Given the description of an element on the screen output the (x, y) to click on. 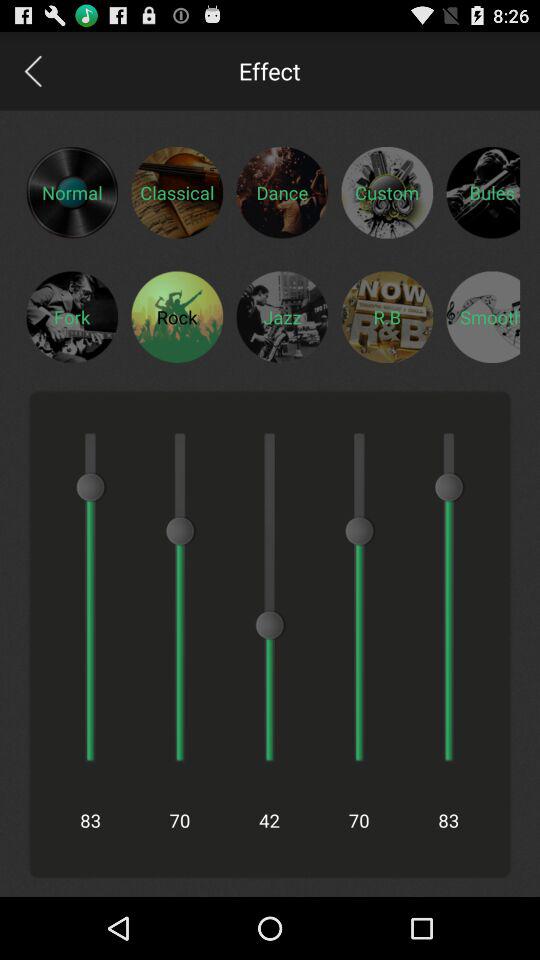
go back (32, 70)
